Given the description of an element on the screen output the (x, y) to click on. 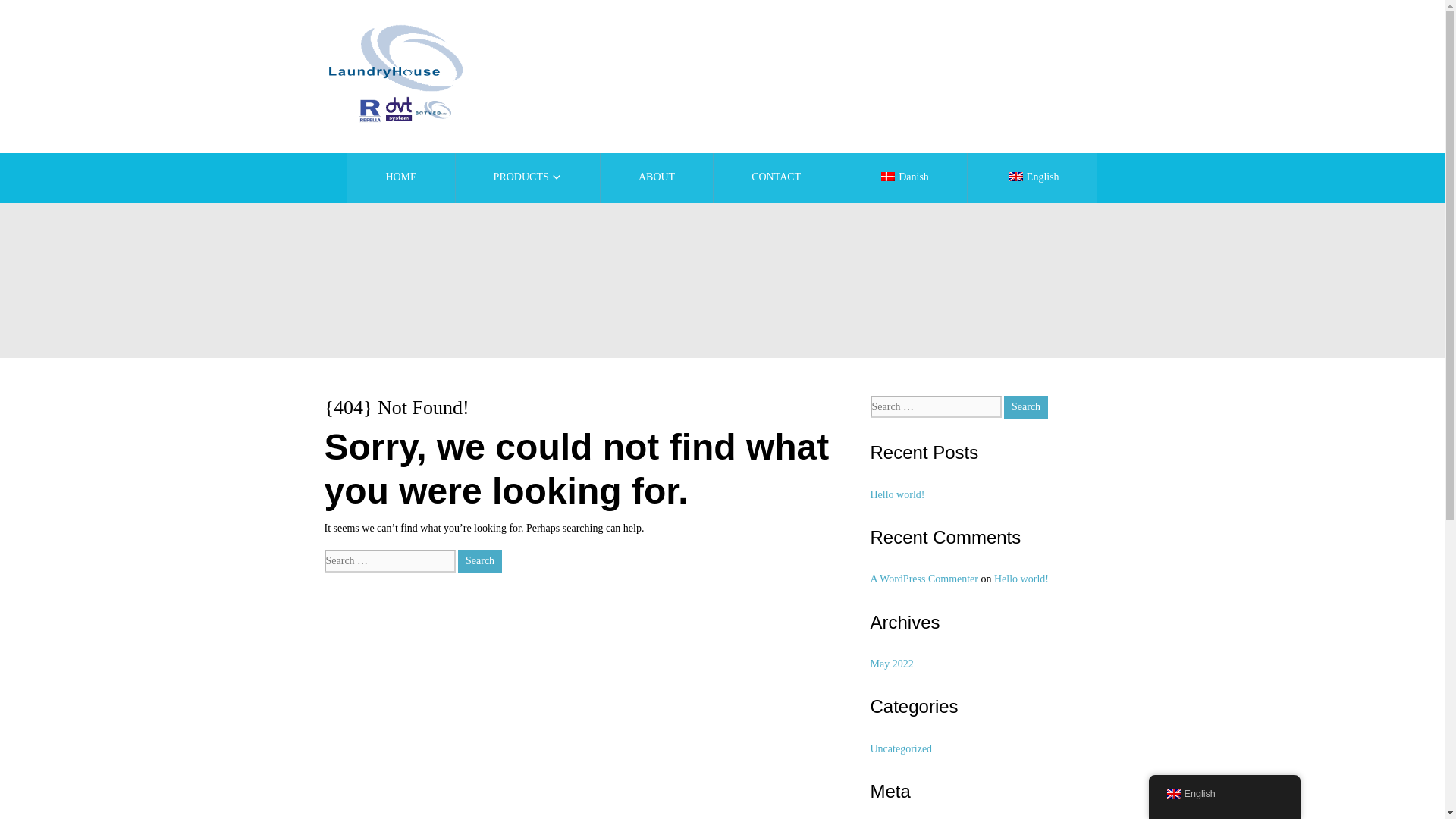
English (1016, 175)
Search (480, 561)
English (1224, 794)
Hello world! (897, 494)
Danish (903, 178)
ABOUT (656, 178)
CONTACT (775, 178)
English (1032, 178)
A WordPress Commenter (924, 578)
Search (1026, 407)
Hello world! (1021, 578)
Uncategorized (901, 748)
Search (1026, 407)
English (1172, 793)
PRODUCTS (527, 178)
